Given the description of an element on the screen output the (x, y) to click on. 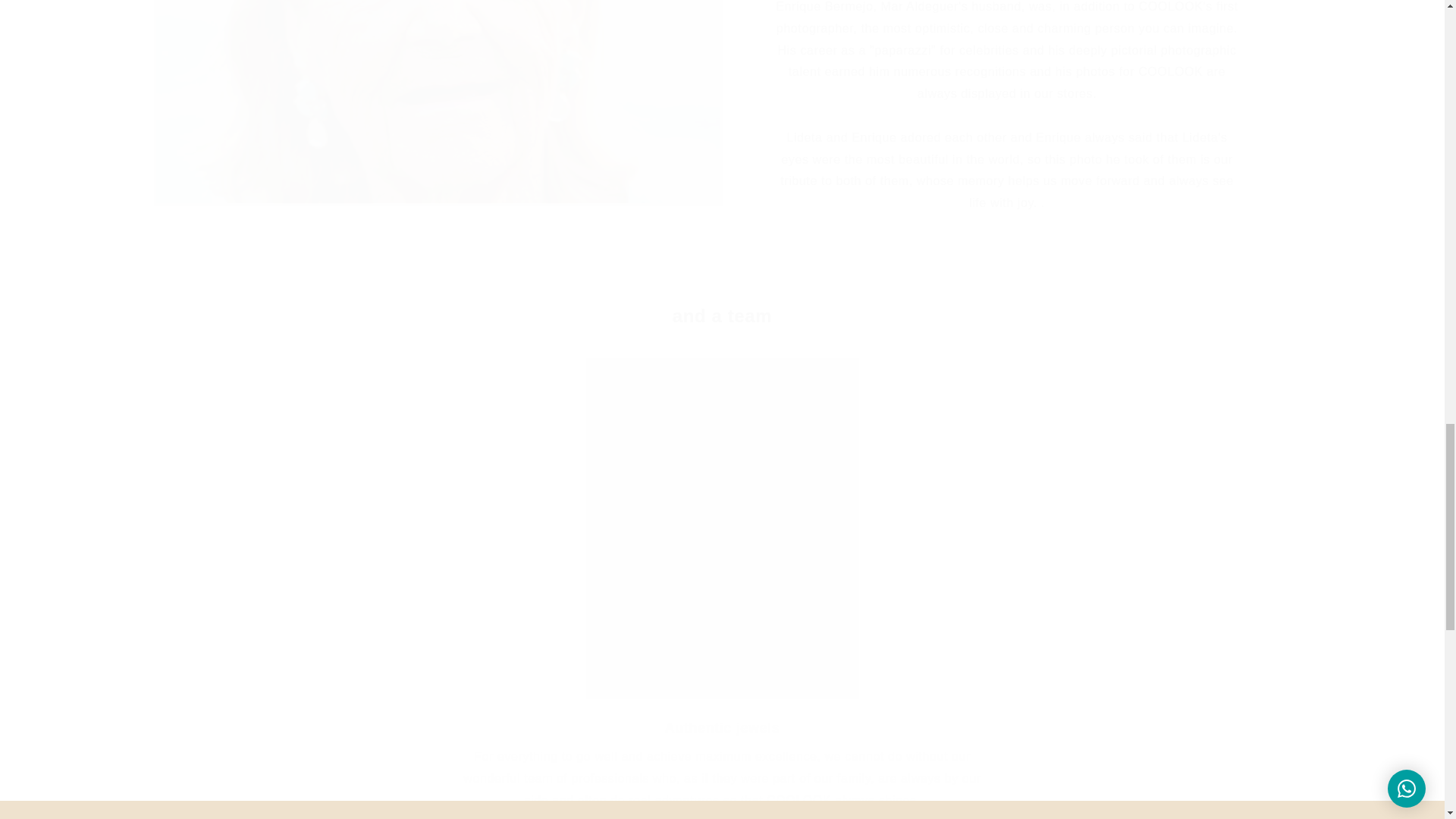
and a team (721, 315)
